Given the description of an element on the screen output the (x, y) to click on. 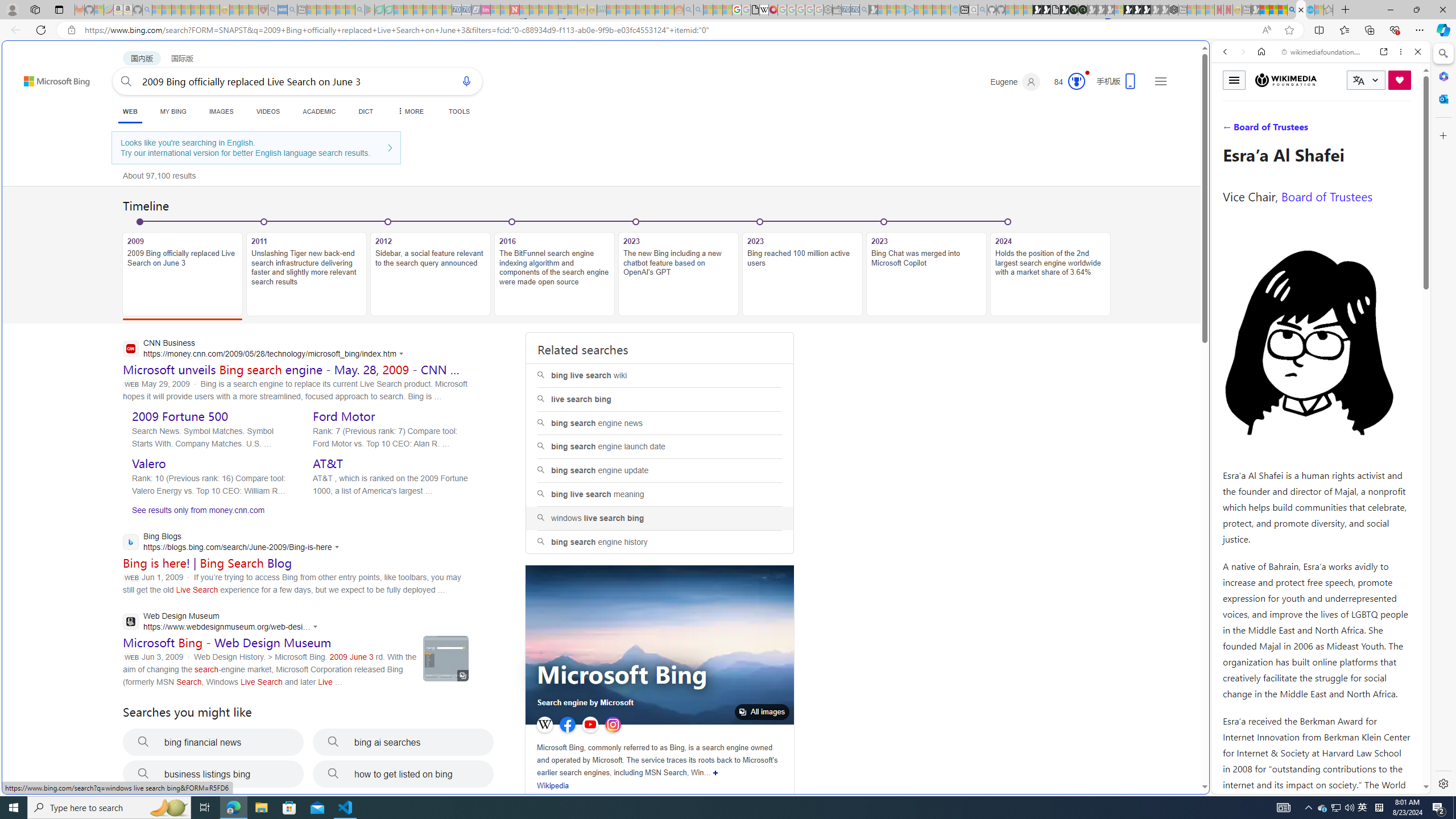
Show more (715, 772)
CNN Business (265, 349)
Local - MSN - Sleeping (253, 9)
bing live search meaning (659, 494)
2009 Fortune 500 (180, 415)
DICT (365, 111)
Pets - MSN - Sleeping (340, 9)
All images (762, 712)
Kinda Frugal - MSN - Sleeping (649, 9)
Microsoft Start Gaming - Sleeping (872, 9)
